Given the description of an element on the screen output the (x, y) to click on. 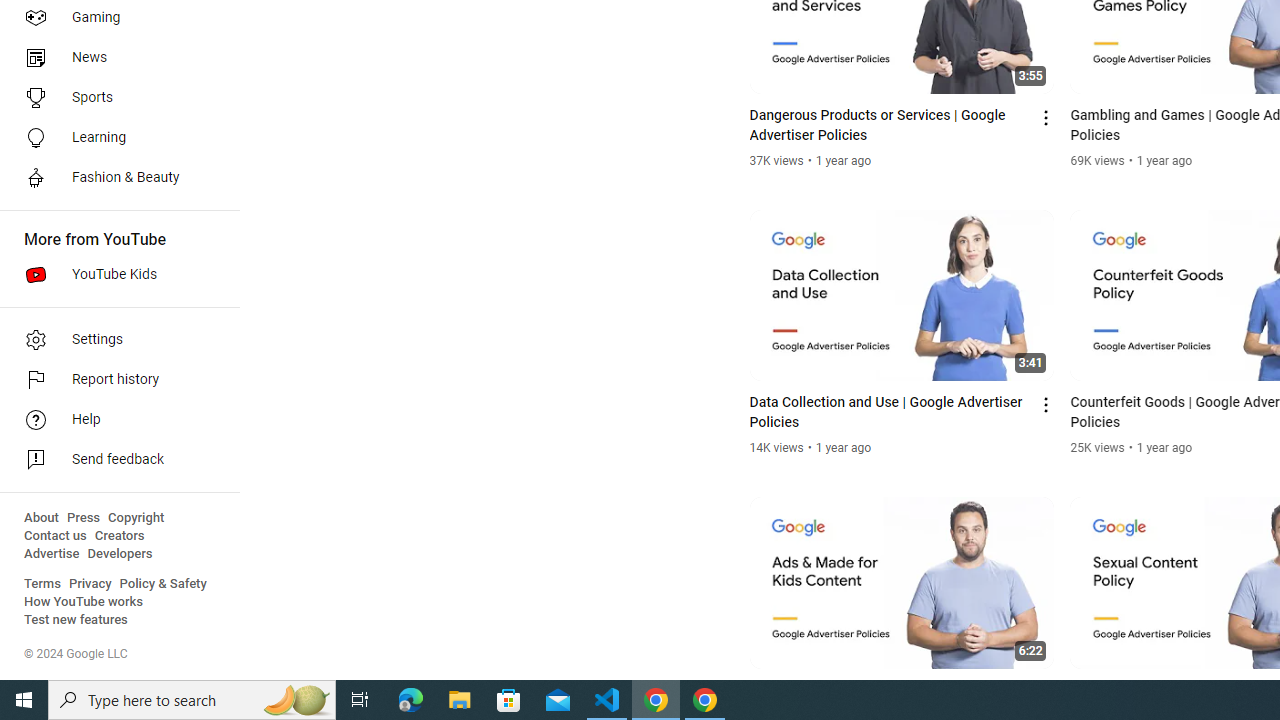
Creators (118, 536)
Help (113, 419)
Settings (113, 339)
Report history (113, 380)
Developers (120, 554)
Copyright (136, 518)
YouTube Kids (113, 274)
Privacy (89, 584)
Action menu (1046, 691)
Send feedback (113, 459)
Fashion & Beauty (113, 177)
Terms (42, 584)
Contact us (55, 536)
How YouTube works (83, 602)
